Given the description of an element on the screen output the (x, y) to click on. 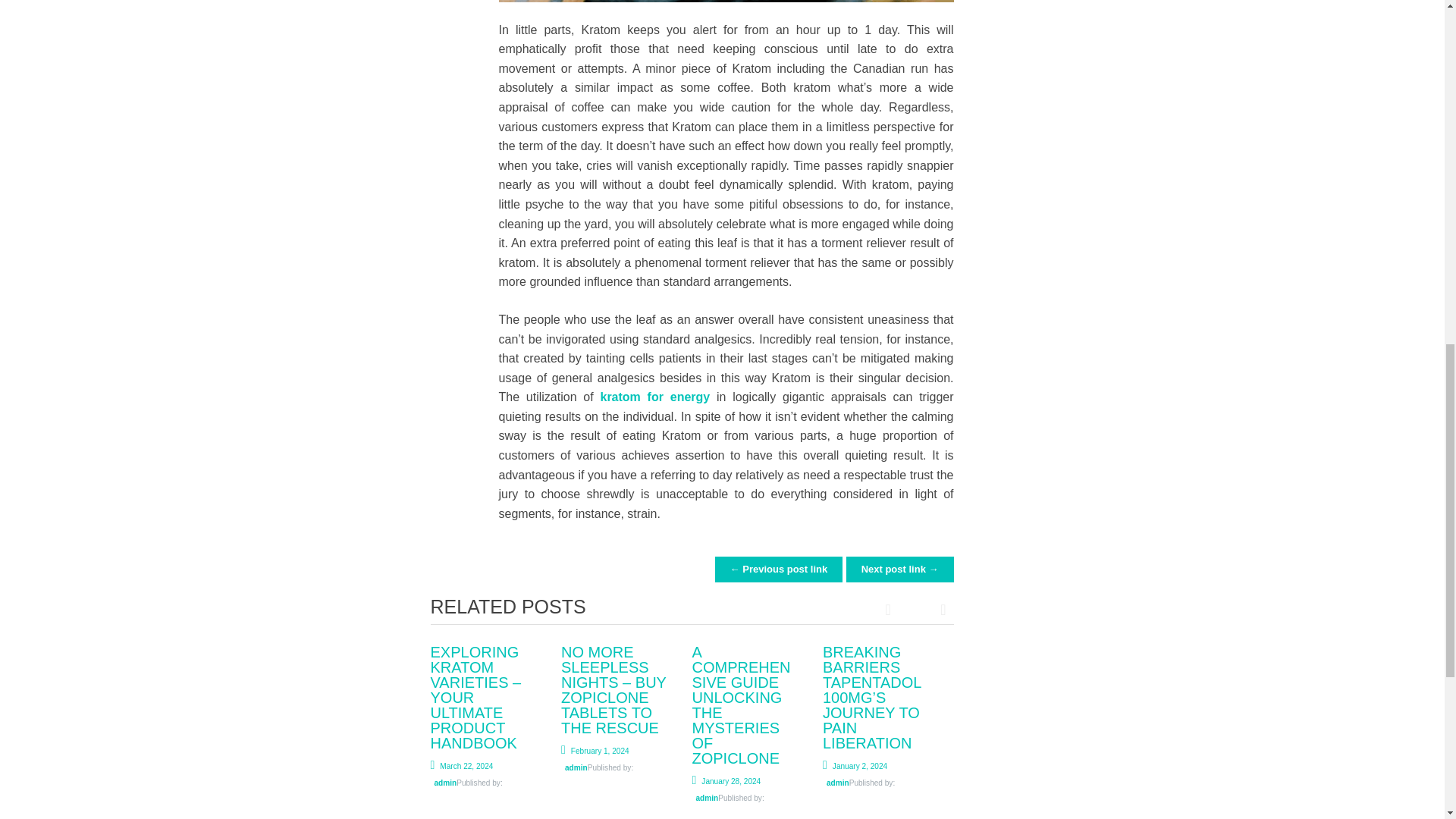
Posts by admin (576, 767)
Previous (896, 608)
March 22, 2024 (461, 766)
10:50 am (594, 750)
7:35 am (725, 780)
Posts by admin (837, 783)
Posts by admin (707, 798)
admin (707, 798)
January 28, 2024 (725, 780)
admin (576, 767)
Next (934, 608)
admin (837, 783)
6:45 am (854, 766)
Posts by admin (445, 783)
admin (445, 783)
